Given the description of an element on the screen output the (x, y) to click on. 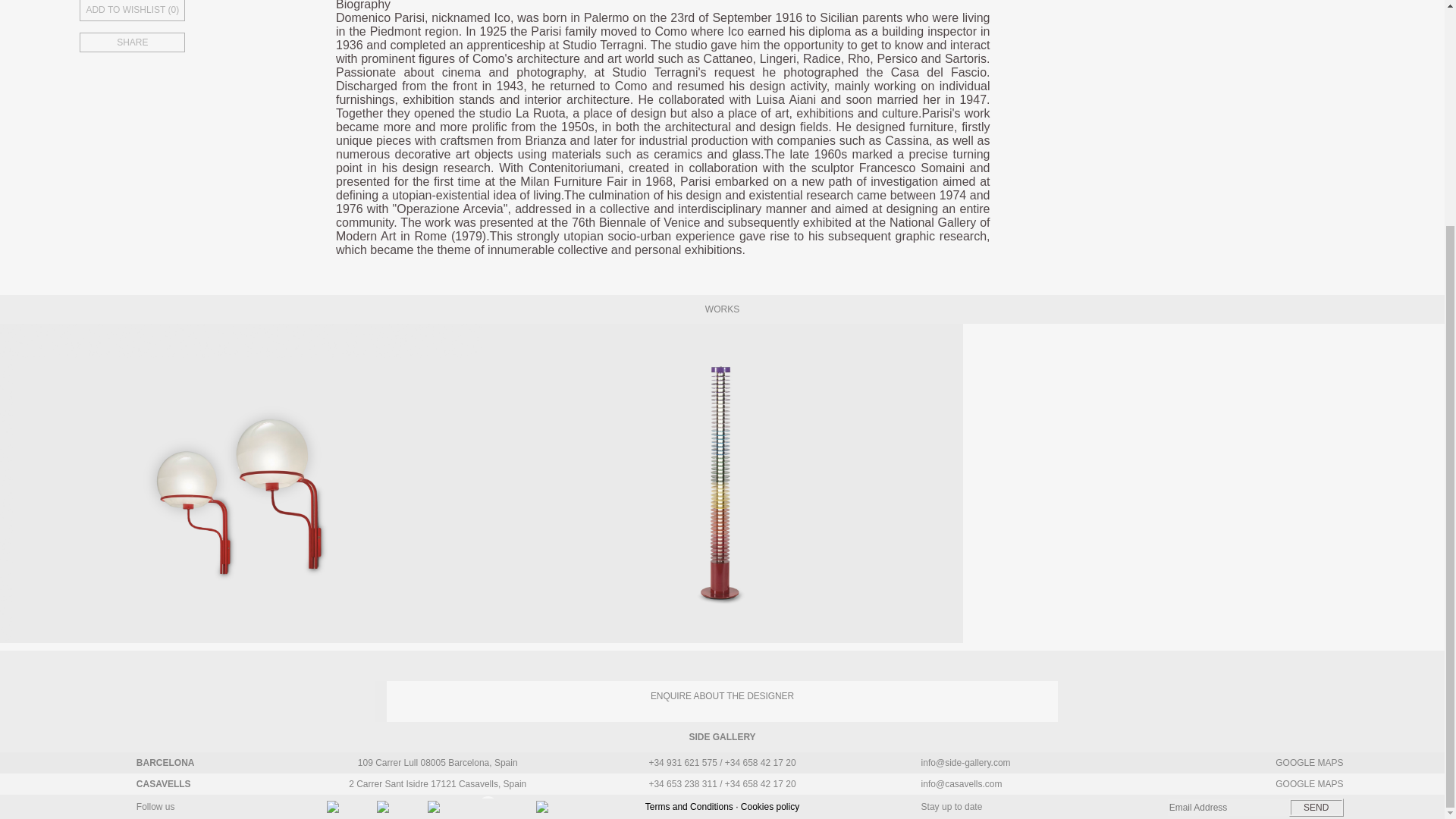
SHARE (187, 42)
Bookmark This (187, 12)
SEND (1315, 807)
